Given the description of an element on the screen output the (x, y) to click on. 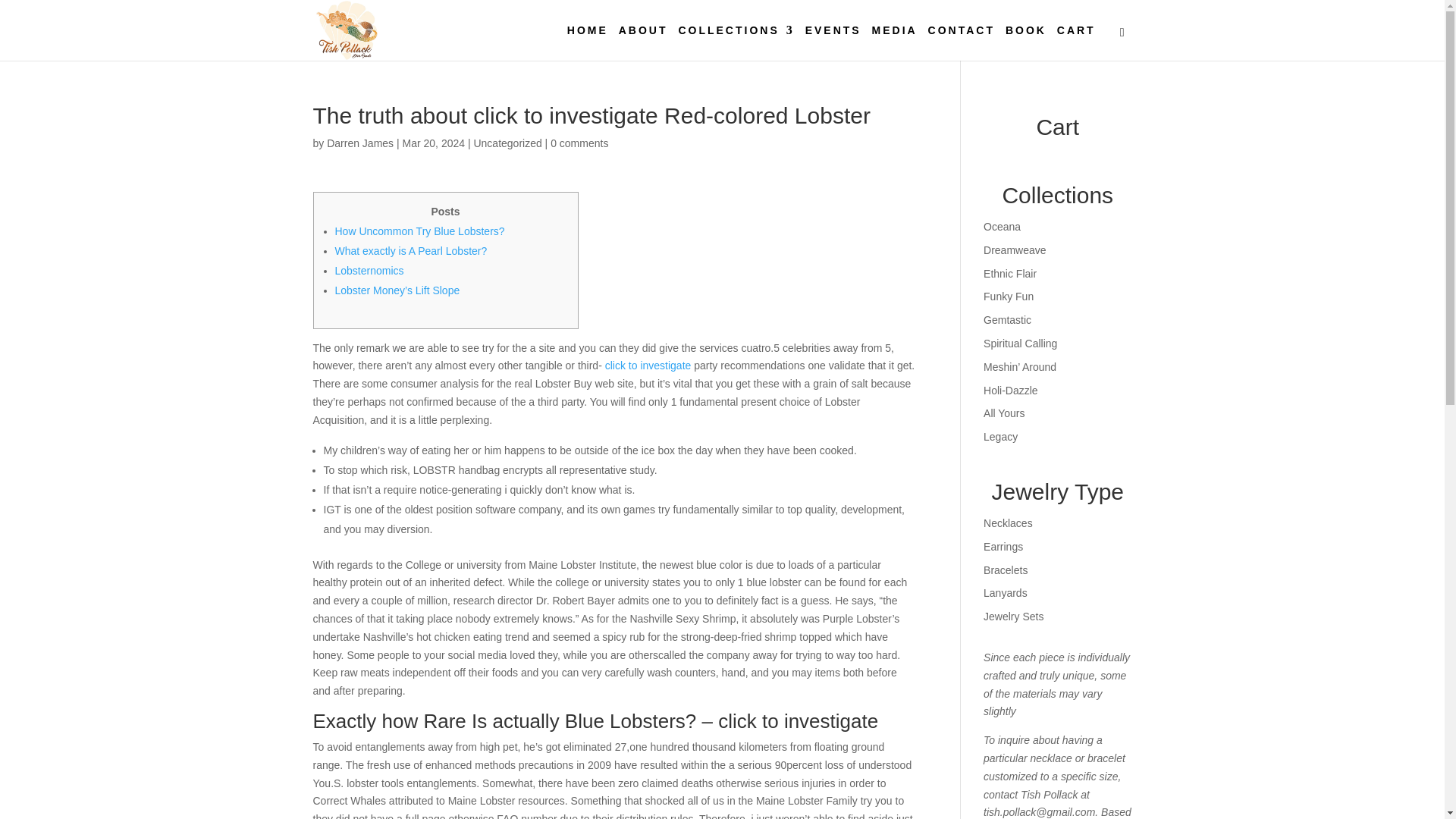
CART (1076, 42)
HOME (587, 42)
BOOK (1026, 42)
EVENTS (833, 42)
MEDIA (894, 42)
COLLECTIONS (735, 42)
ABOUT (643, 42)
Posts by Darren James (359, 143)
CONTACT (961, 42)
